Given the description of an element on the screen output the (x, y) to click on. 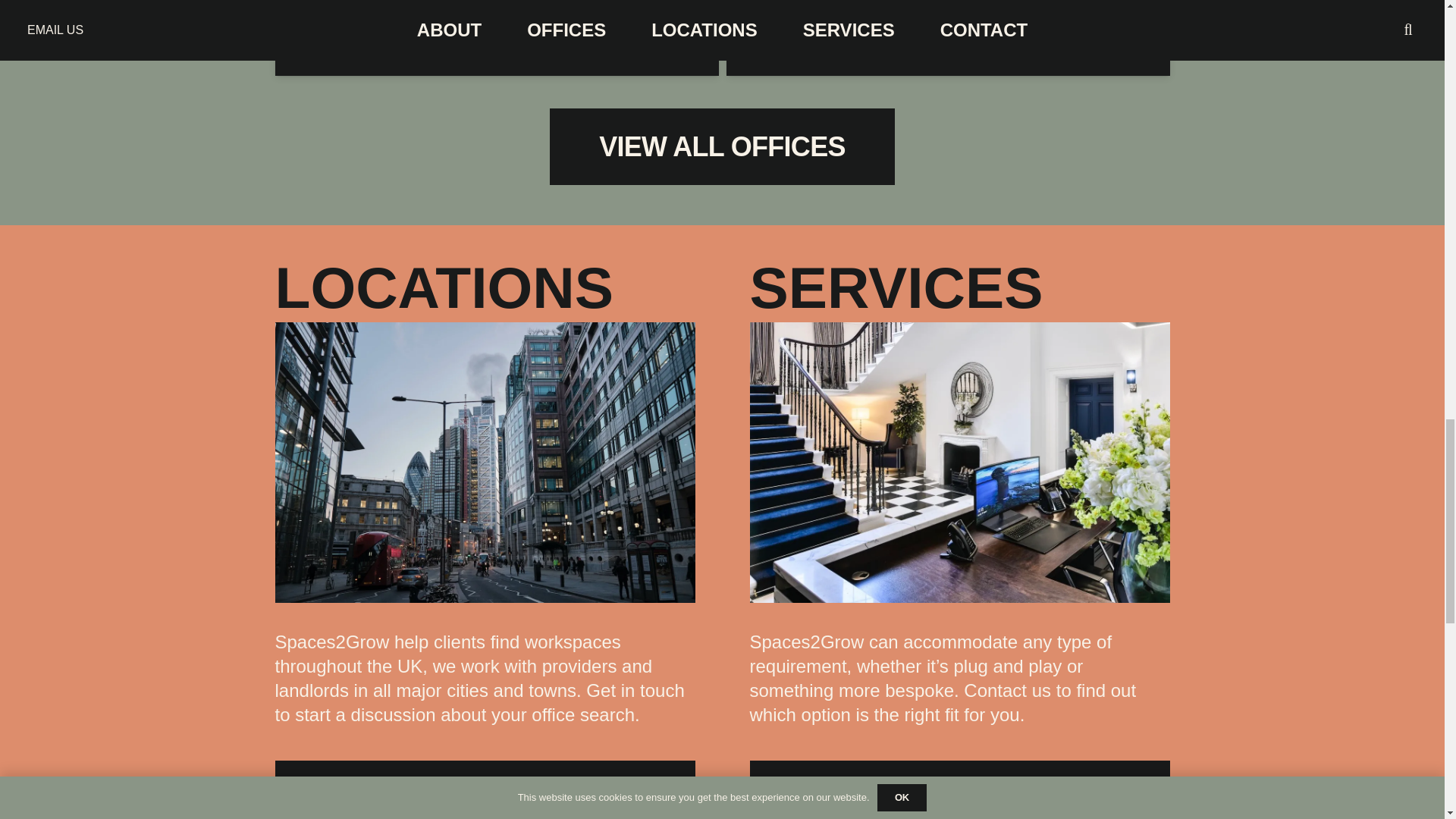
MORE (959, 789)
VIEW ALL OFFICES (721, 146)
Nova North (374, 11)
Michelin House (853, 11)
MORE (484, 789)
